Given the description of an element on the screen output the (x, y) to click on. 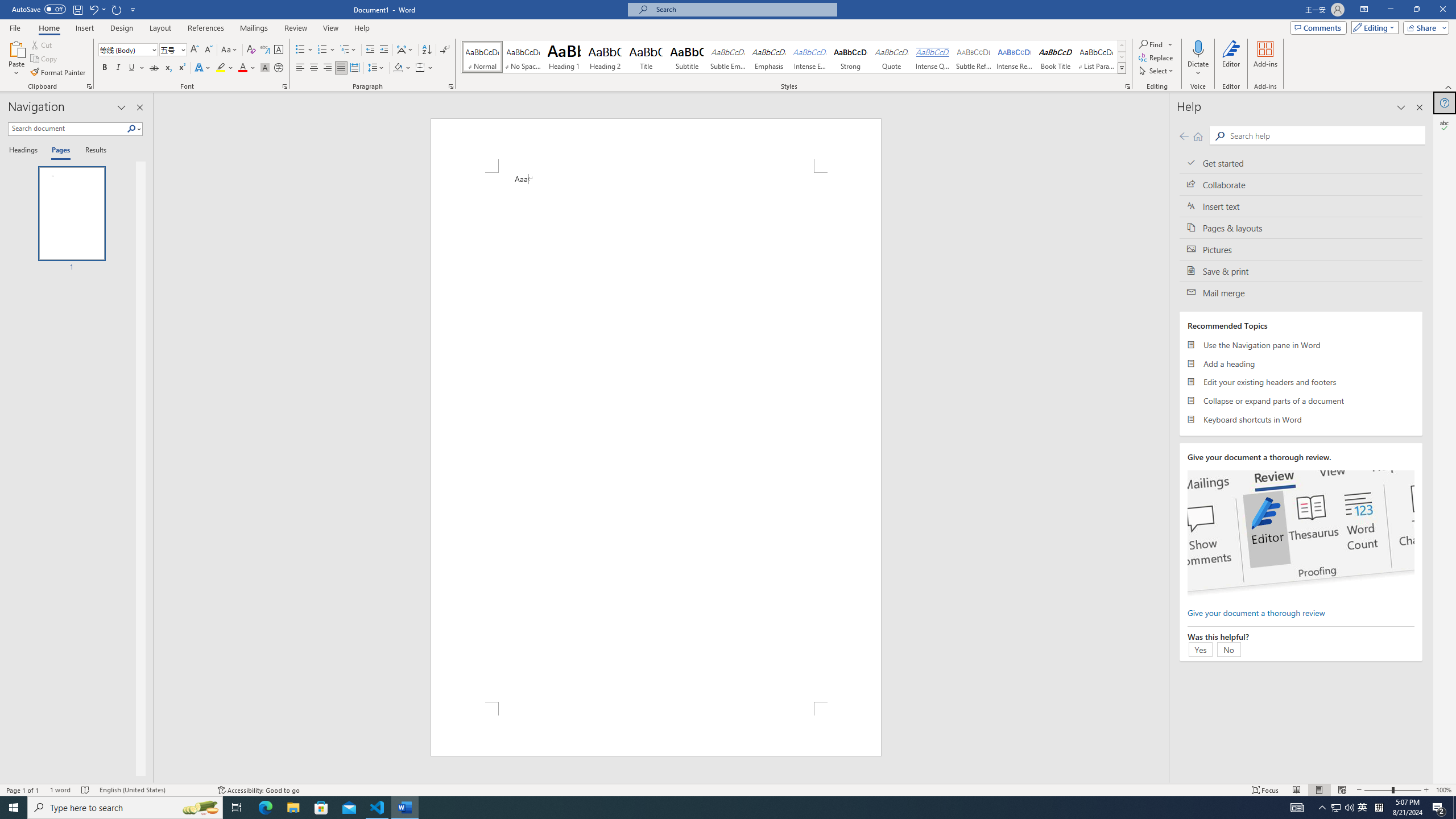
Page 1 content (655, 436)
